Given the description of an element on the screen output the (x, y) to click on. 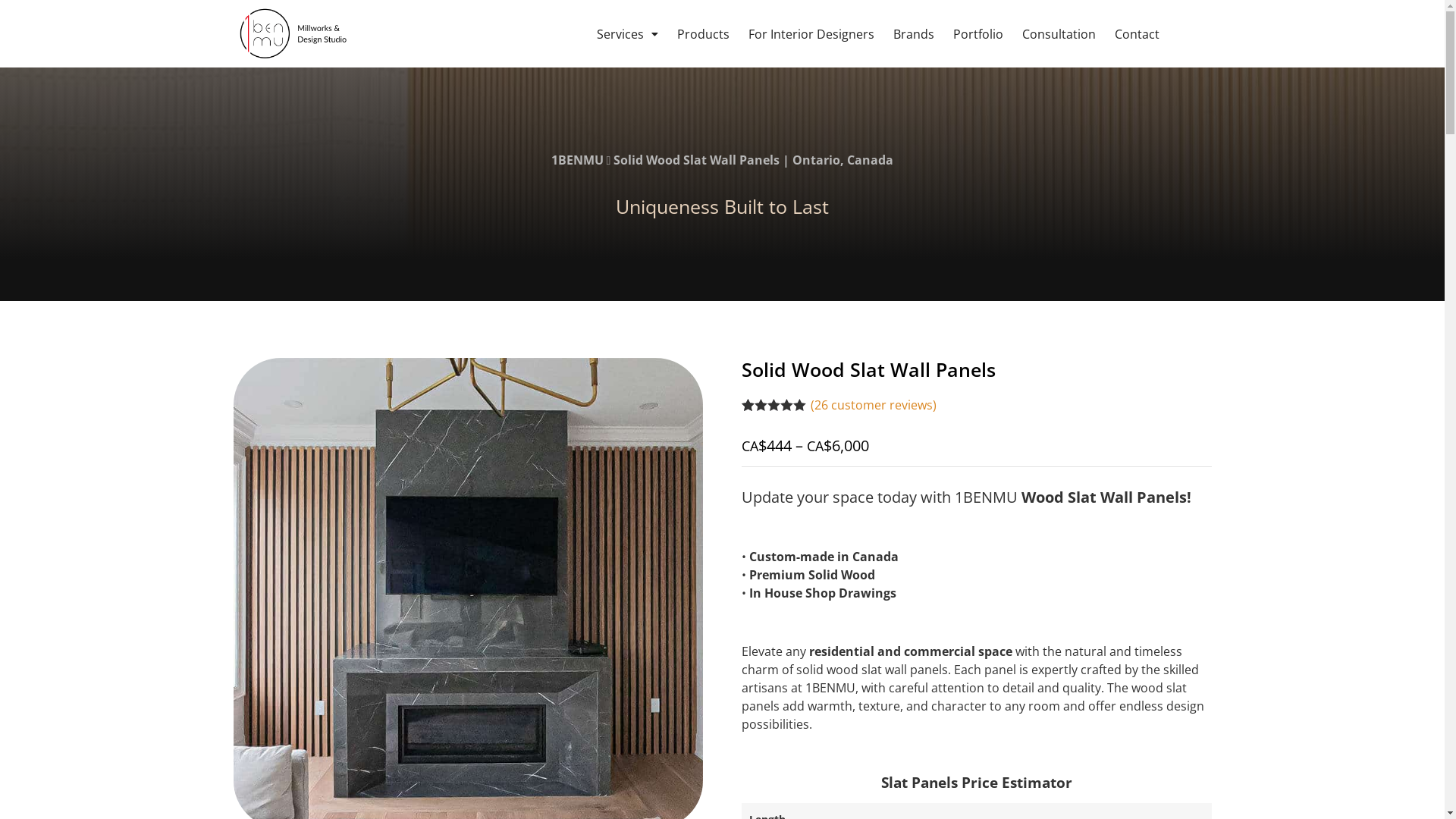
Contact Element type: text (1136, 33)
Services Element type: text (627, 33)
(26 customer reviews) Element type: text (873, 404)
For Interior Designers Element type: text (811, 33)
Consultation Element type: text (1058, 33)
Portfolio Element type: text (978, 33)
Products Element type: text (703, 33)
Brands Element type: text (913, 33)
